Given the description of an element on the screen output the (x, y) to click on. 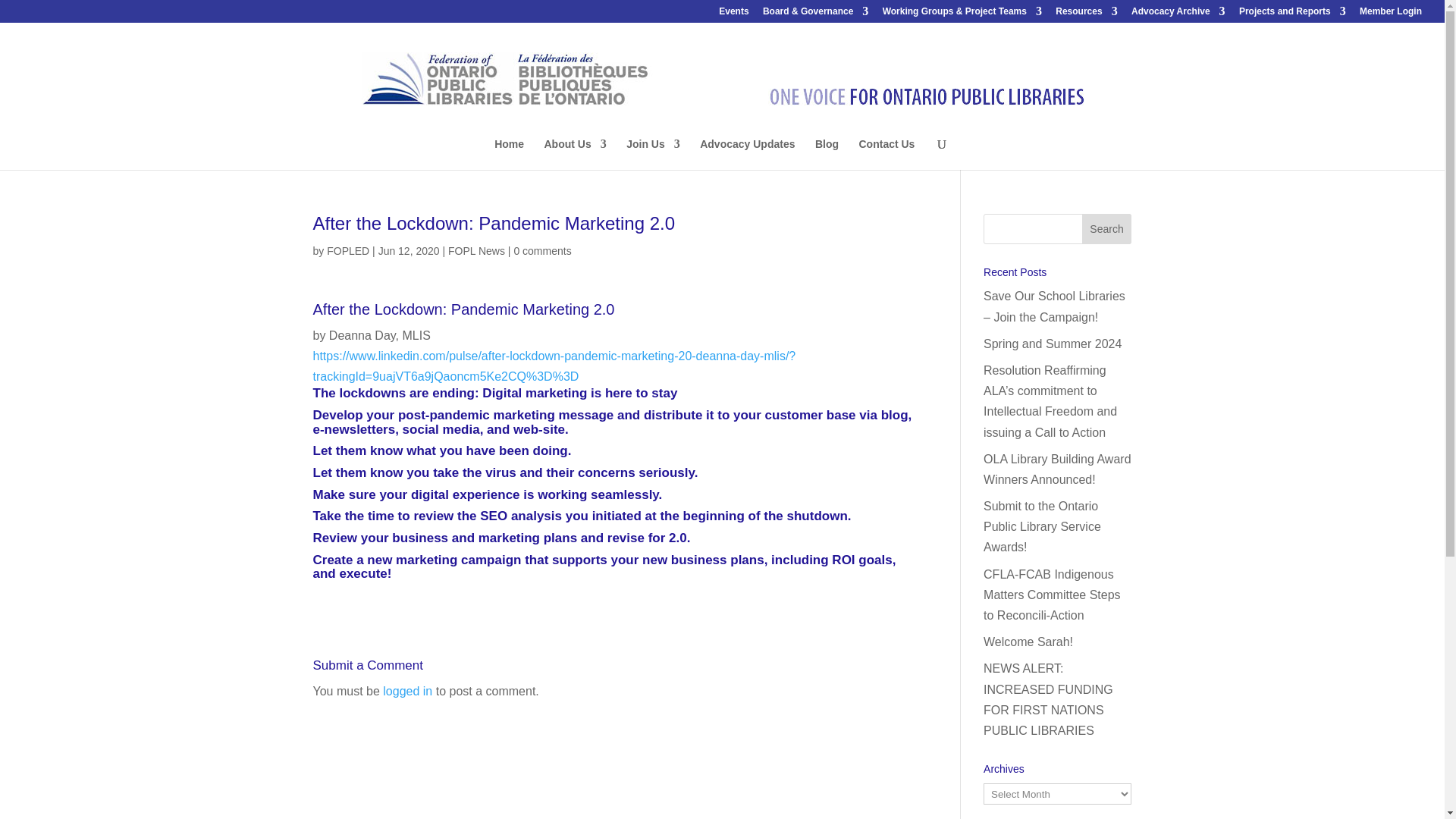
Posts by FOPLED (347, 250)
Advocacy Archive (1178, 14)
Events (733, 14)
Resources (1085, 14)
Search (1106, 228)
Projects and Reports (1292, 14)
